Given the description of an element on the screen output the (x, y) to click on. 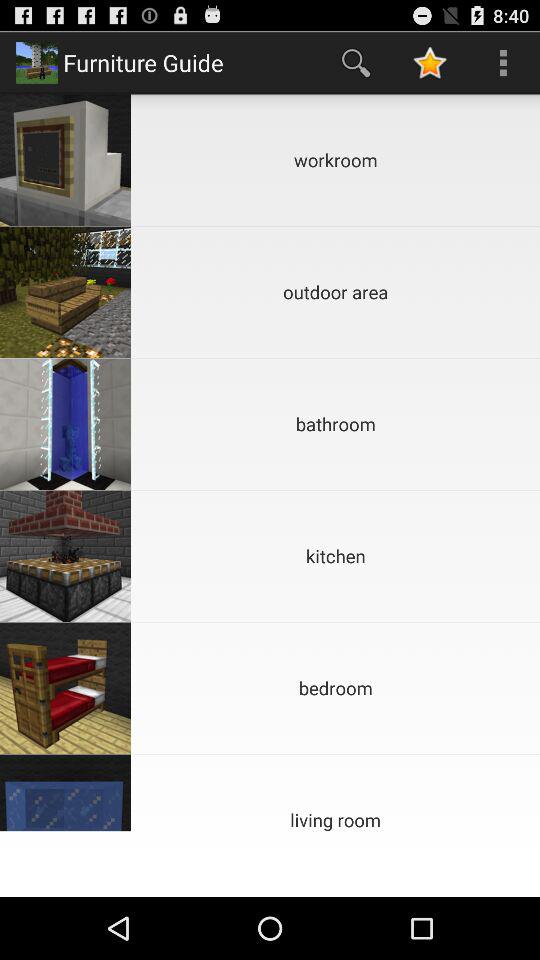
jump to the bathroom item (335, 423)
